Given the description of an element on the screen output the (x, y) to click on. 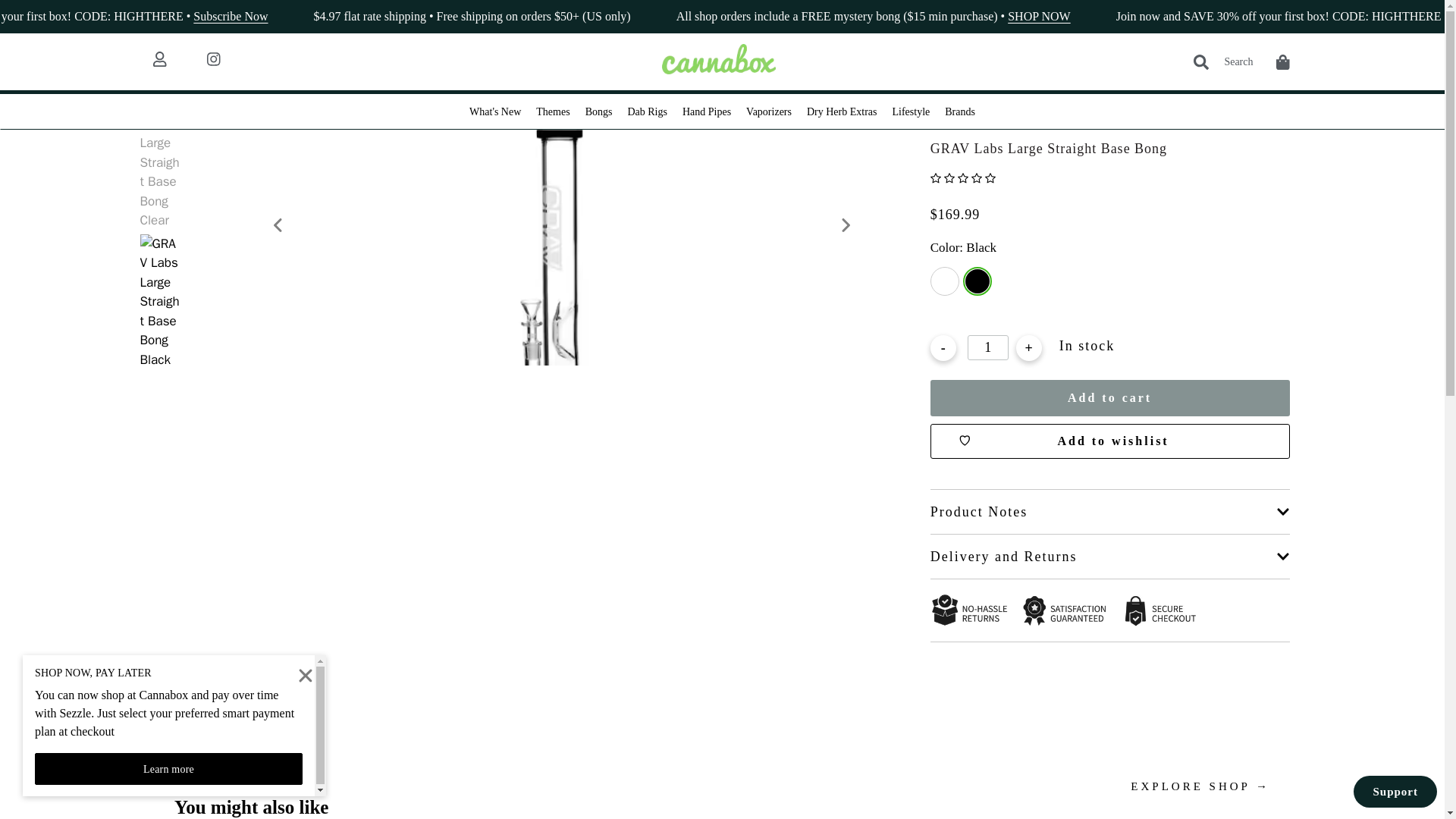
Subscribe Now (368, 15)
SHOP NOW (1176, 15)
Black (977, 281)
1 (988, 347)
Clear (944, 281)
